Given the description of an element on the screen output the (x, y) to click on. 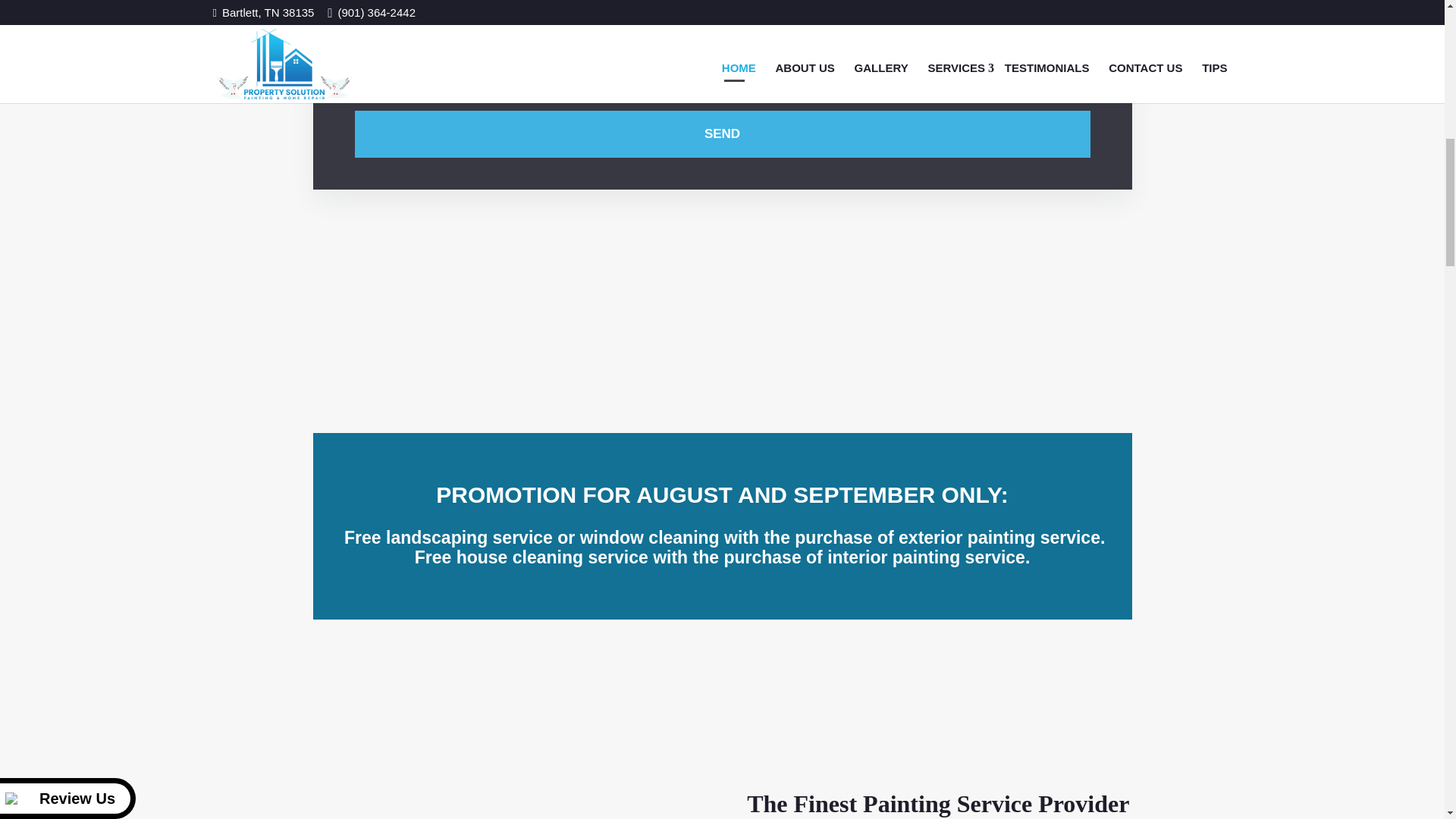
Send (722, 134)
Send (722, 134)
painter (506, 729)
Message (722, 25)
Code (905, 84)
